Given the description of an element on the screen output the (x, y) to click on. 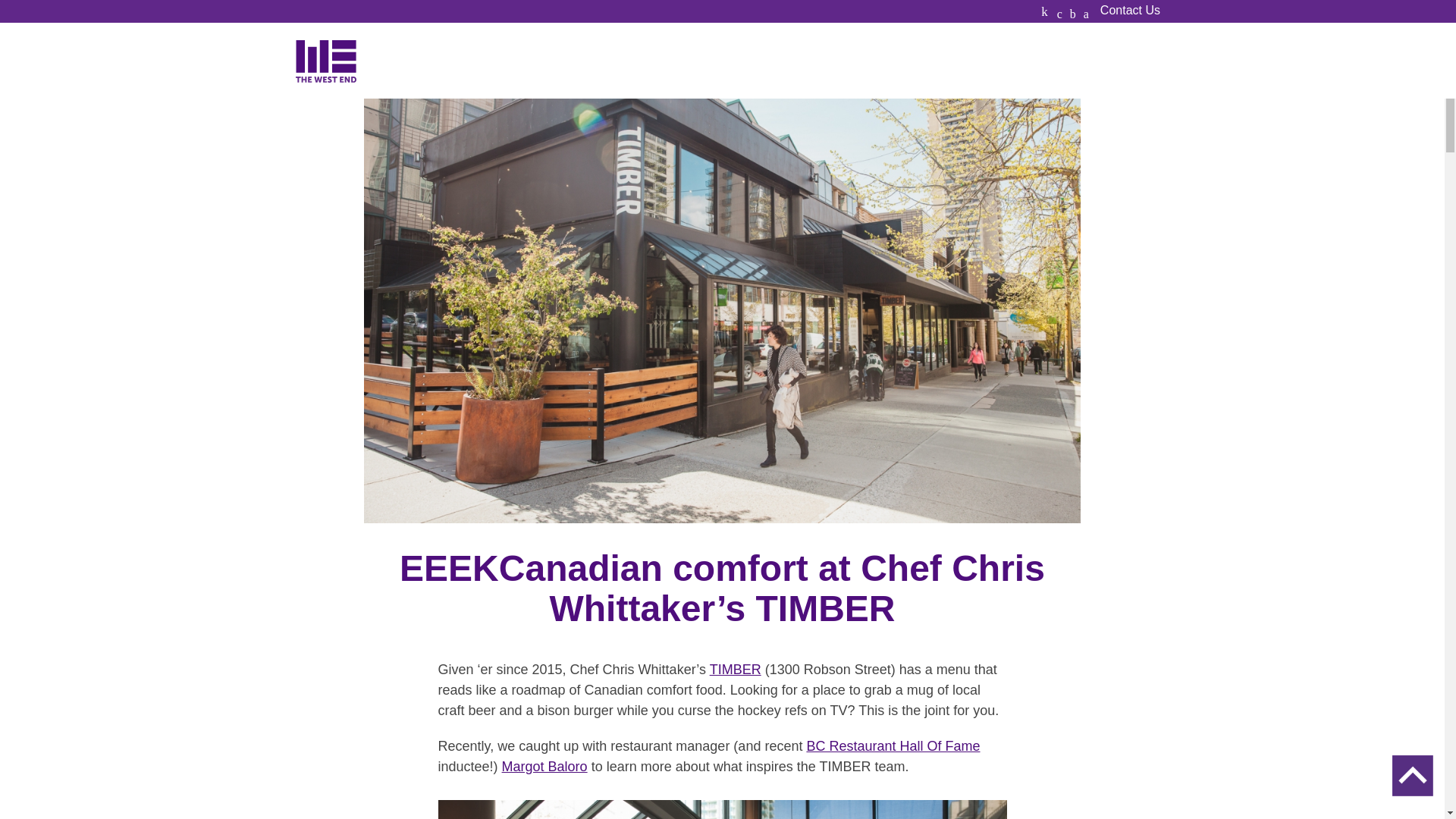
Contact Us (1130, 10)
